Given the description of an element on the screen output the (x, y) to click on. 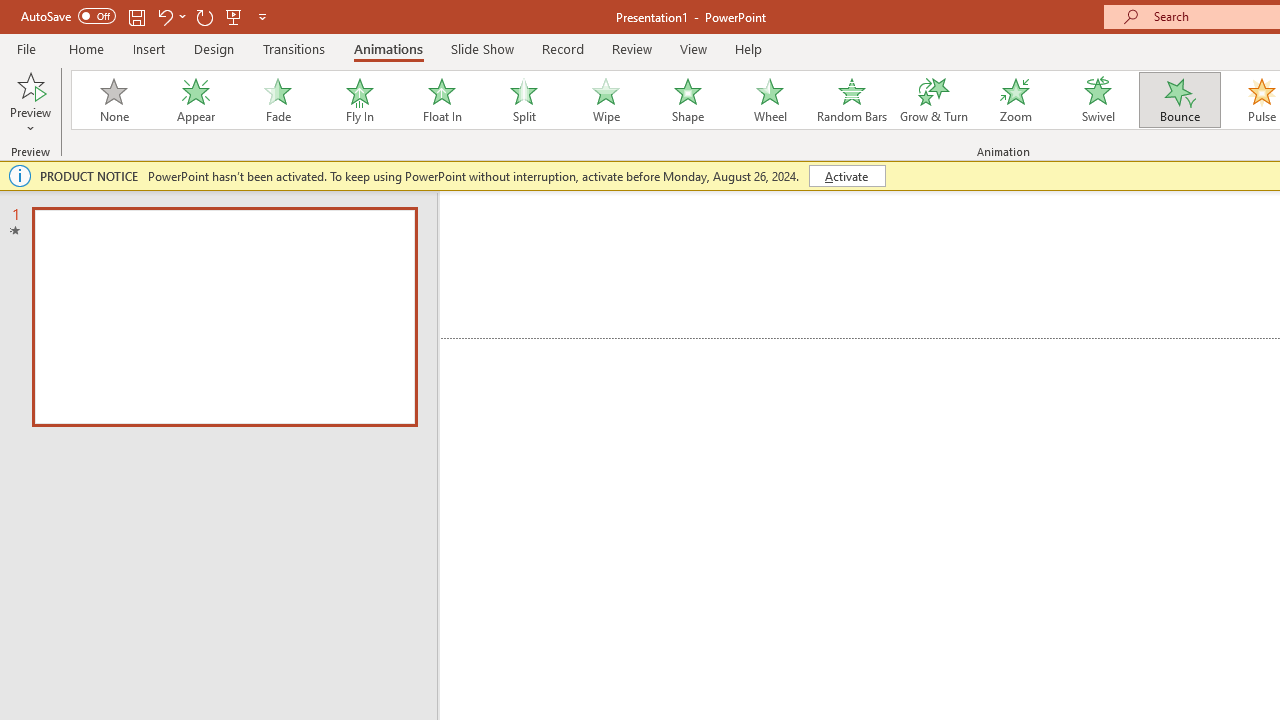
System (10, 11)
Review (631, 48)
Shape (687, 100)
Design (214, 48)
Preview (30, 84)
None (113, 100)
Random Bars (852, 100)
Record (562, 48)
Fly In (359, 100)
Wipe (605, 100)
Slide Show (481, 48)
Preview (30, 102)
Help (748, 48)
Save (136, 15)
Insert (149, 48)
